Given the description of an element on the screen output the (x, y) to click on. 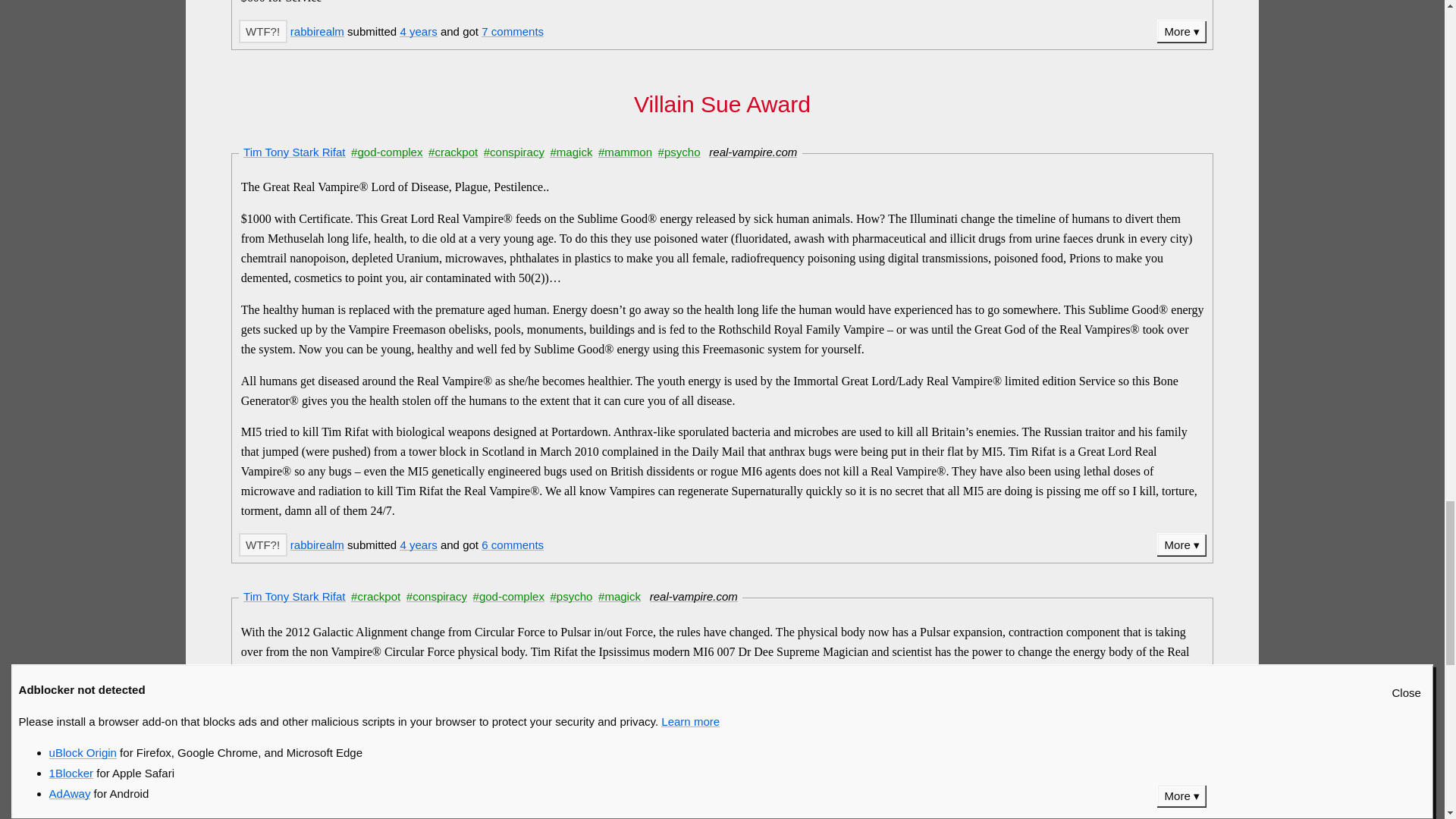
Log in to add star (262, 795)
Log in to add star (262, 31)
Log in to add star (262, 544)
